Given the description of an element on the screen output the (x, y) to click on. 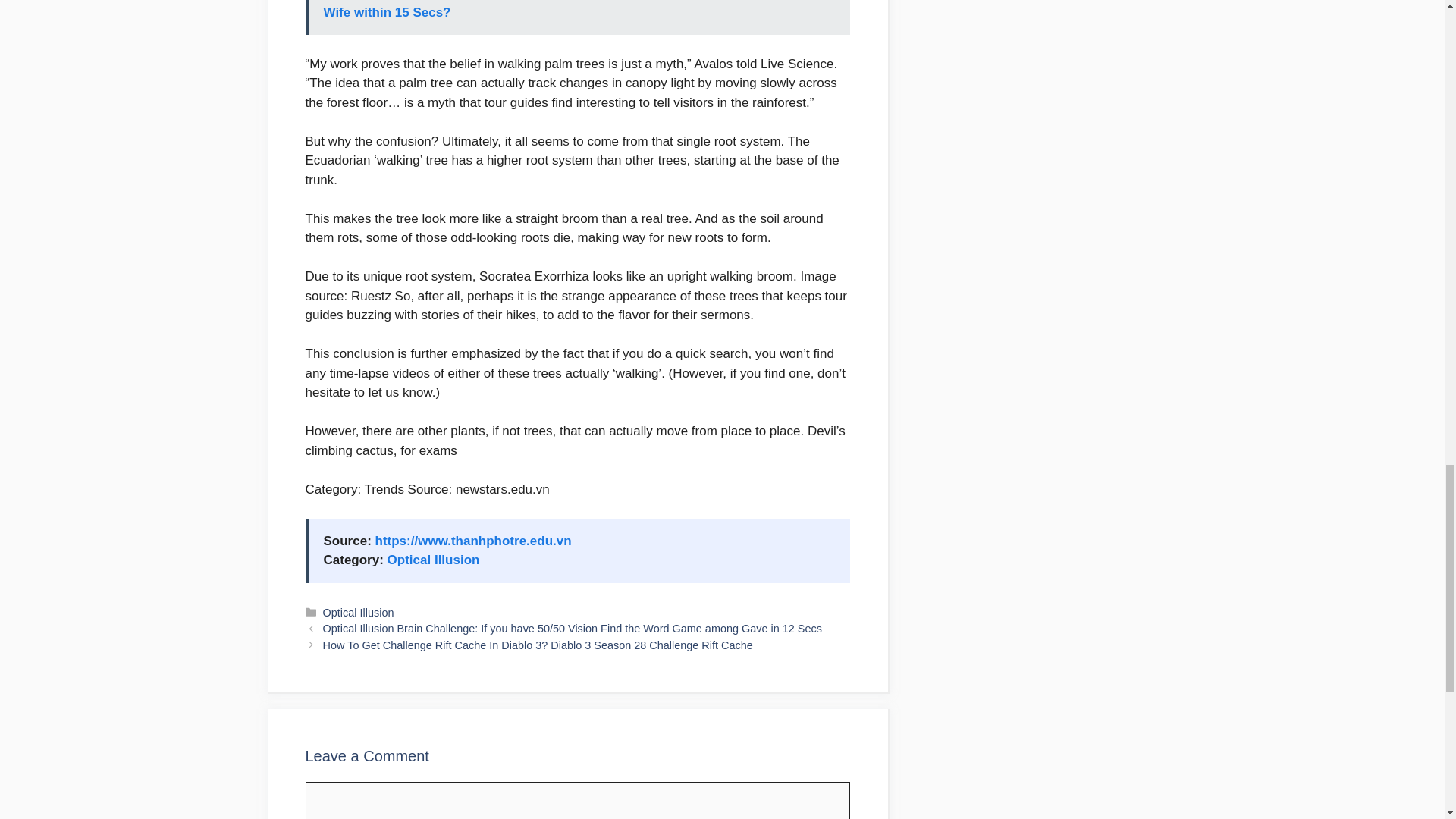
Optical Illusion (433, 559)
Optical Illusion (358, 612)
